Given the description of an element on the screen output the (x, y) to click on. 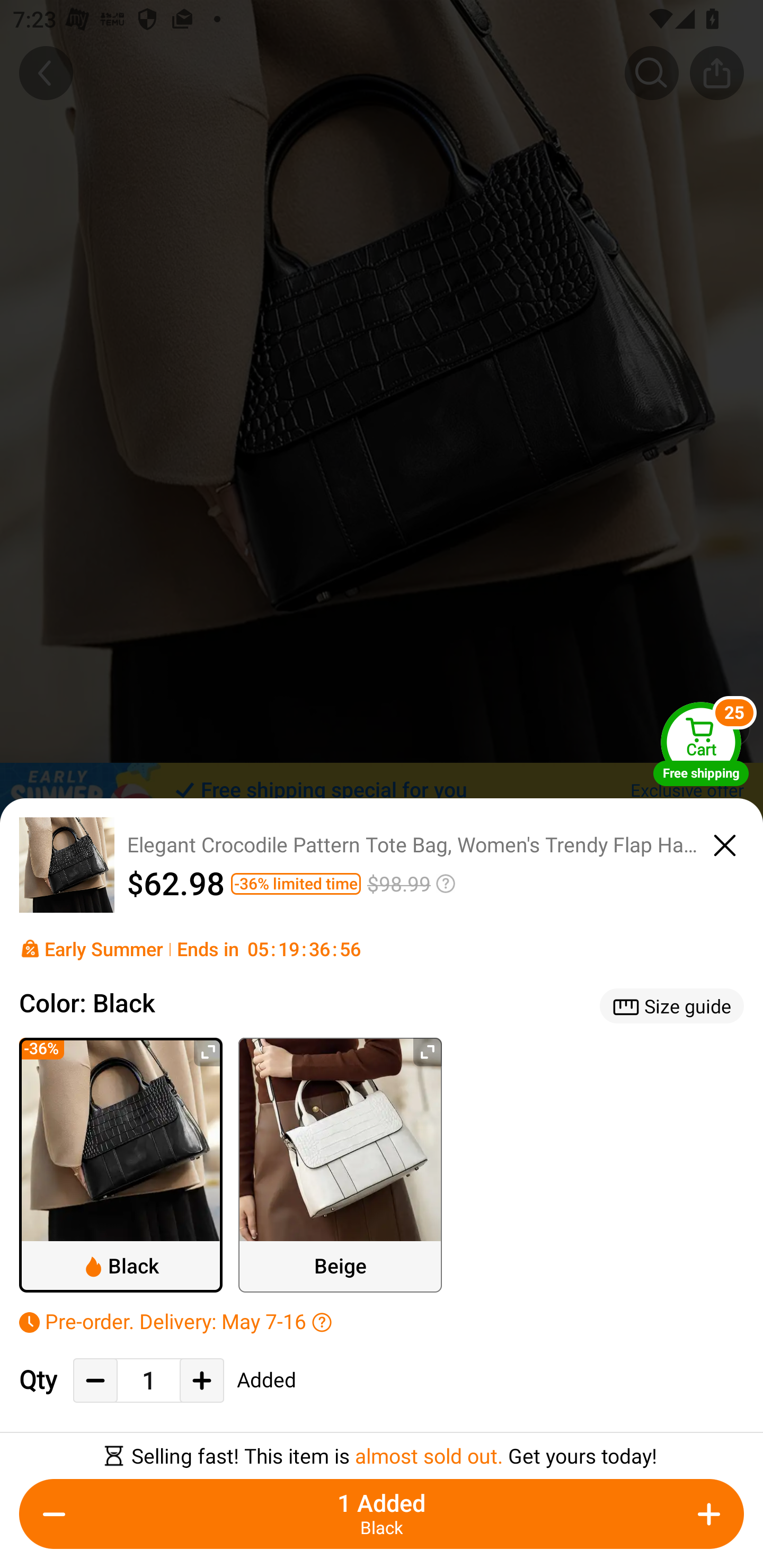
Cart Free shipping Cart (701, 743)
close (724, 842)
￼Size guide (671, 1005)
Black ￼Black (120, 1165)
Beige (339, 1165)
  Pre-order. Delivery: May 7-16   (381, 1320)
Decrease Quantity Button (95, 1380)
Add Quantity Button (201, 1380)
1 (148, 1381)
Decrease Quantity Button (54, 1513)
1 Added Black (381, 1513)
Add Quantity Button (708, 1513)
